Given the description of an element on the screen output the (x, y) to click on. 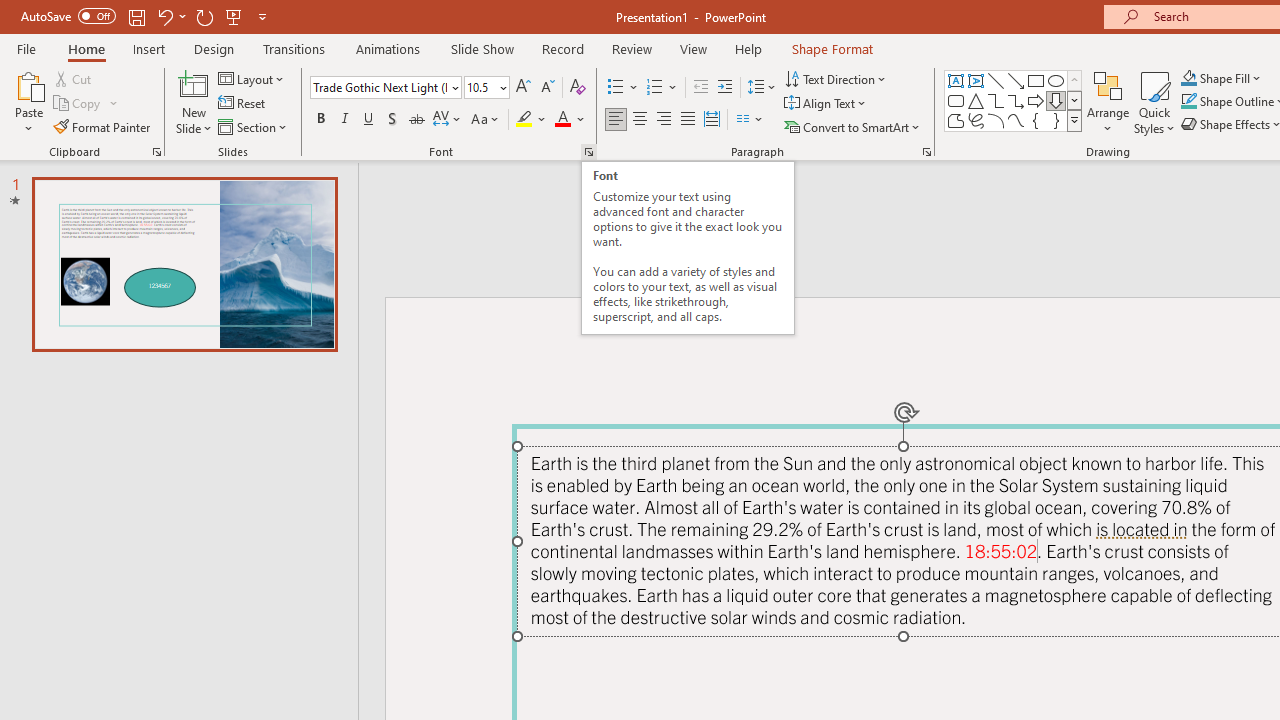
Line Spacing (762, 87)
Class: NetUIImage (1075, 120)
Font Size (486, 87)
Convert to SmartArt (853, 126)
Increase Font Size (522, 87)
Justify (687, 119)
Row up (1074, 79)
Connector: Elbow Arrow (1016, 100)
Change Case (486, 119)
Text Highlight Color (531, 119)
